Given the description of an element on the screen output the (x, y) to click on. 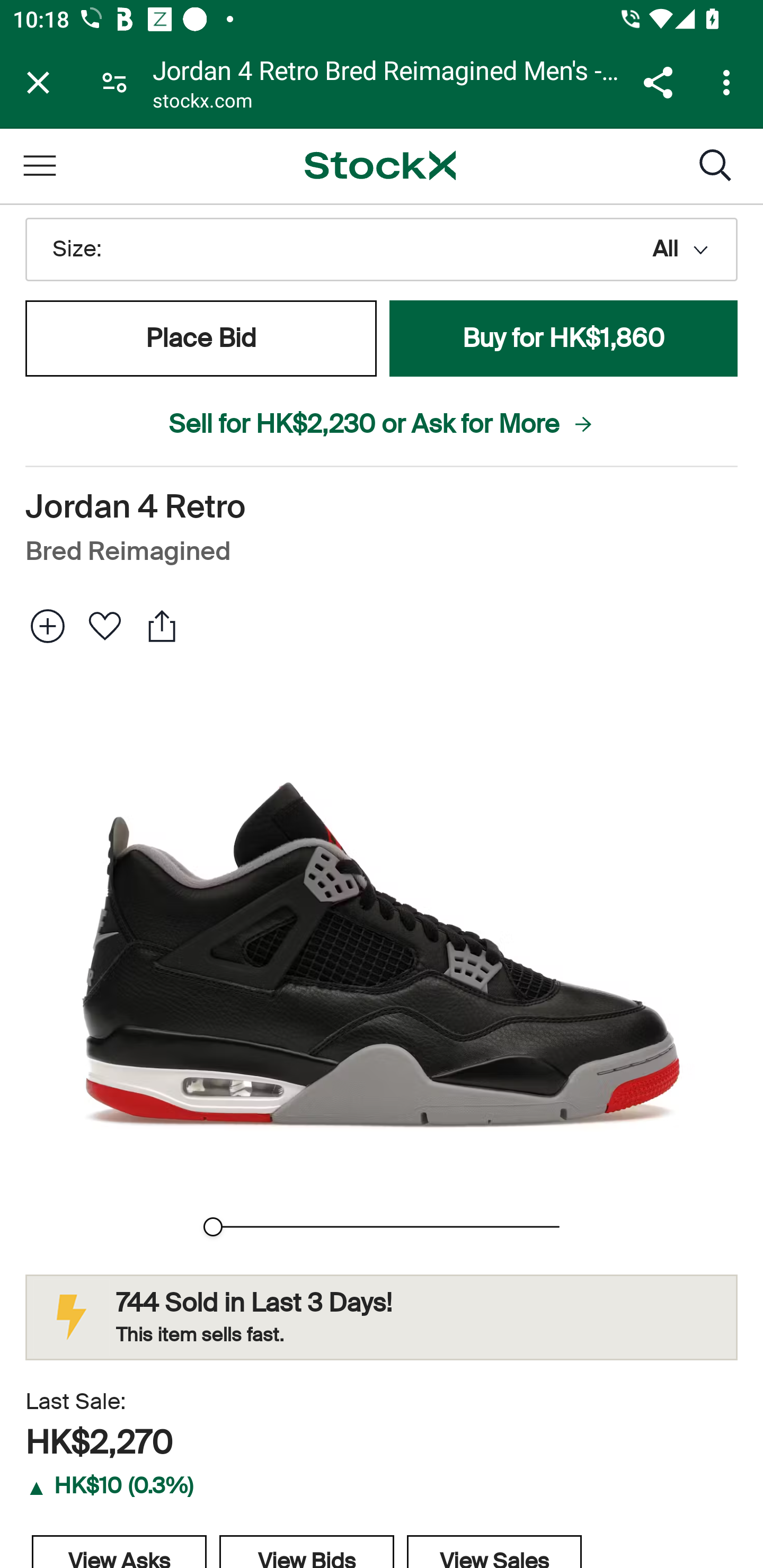
Close tab (38, 82)
Share (657, 82)
Customize and control Google Chrome (729, 82)
Connection is secure (114, 81)
stockx.com (202, 103)
